Given the description of an element on the screen output the (x, y) to click on. 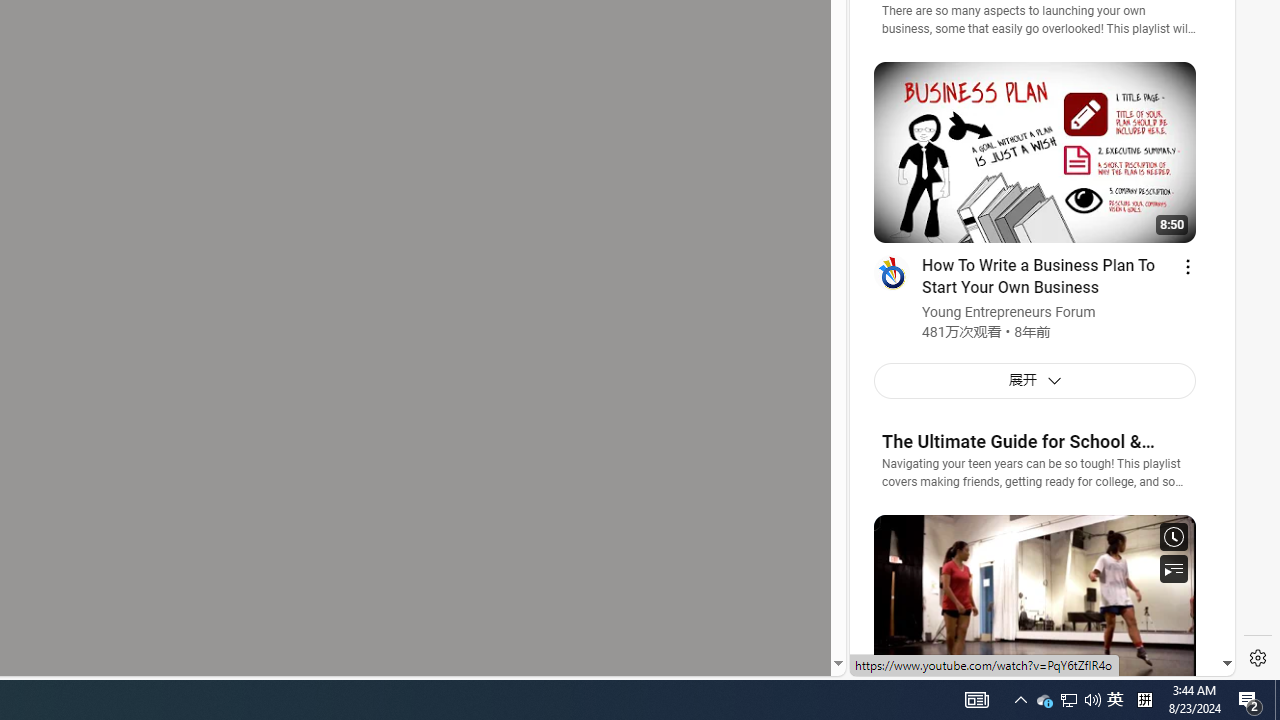
YouTube (1034, 432)
you (1034, 609)
US[ju] (917, 660)
Click to scroll right (1196, 83)
Class: dict_pnIcon rms_img (1028, 660)
The Ultimate Guide for School & Beyond! (1038, 442)
